Given the description of an element on the screen output the (x, y) to click on. 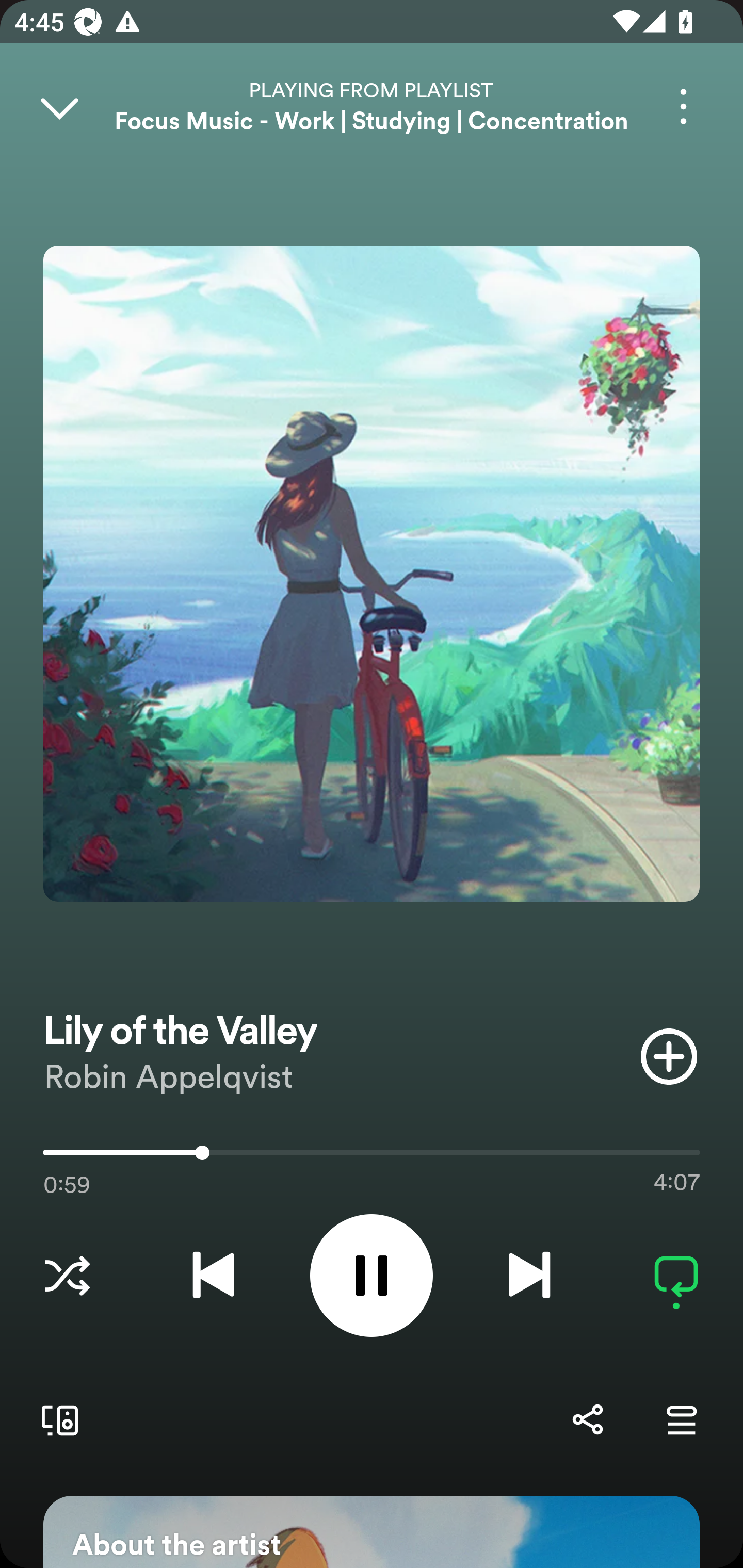
Close (59, 106)
More options for song Lily of the Valley (683, 106)
Add item (669, 1056)
0:59 4:07 59803.0 Use volume keys to adjust (371, 1157)
Pause (371, 1275)
Previous (212, 1275)
Next (529, 1275)
Choose a Listening Mode (66, 1275)
Repeat (676, 1275)
Share (587, 1419)
Go to Queue (681, 1419)
Connect to a device. Opens the devices menu (55, 1419)
About the artist (371, 1531)
